Given the description of an element on the screen output the (x, y) to click on. 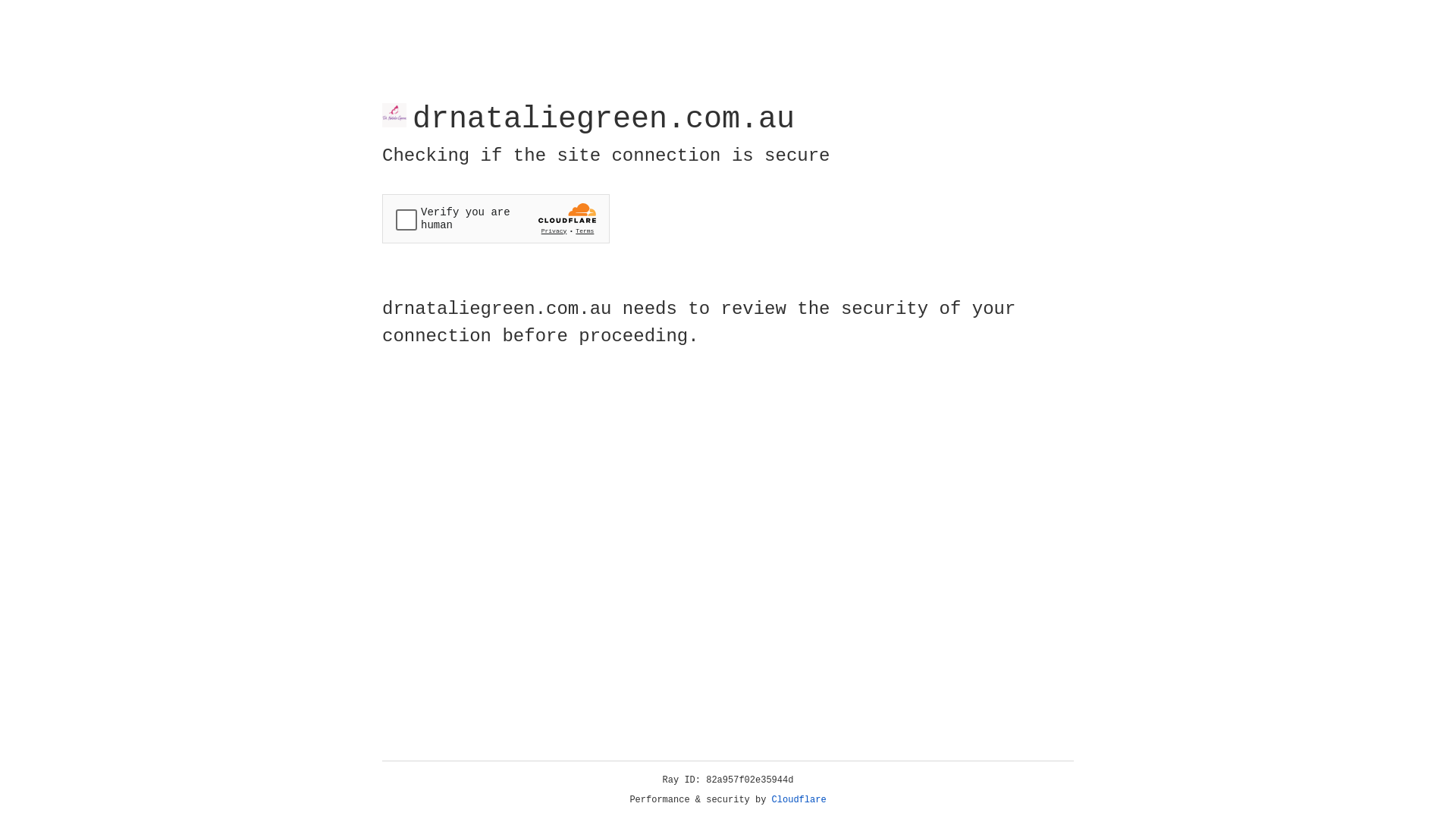
Cloudflare Element type: text (798, 799)
Widget containing a Cloudflare security challenge Element type: hover (495, 218)
